Given the description of an element on the screen output the (x, y) to click on. 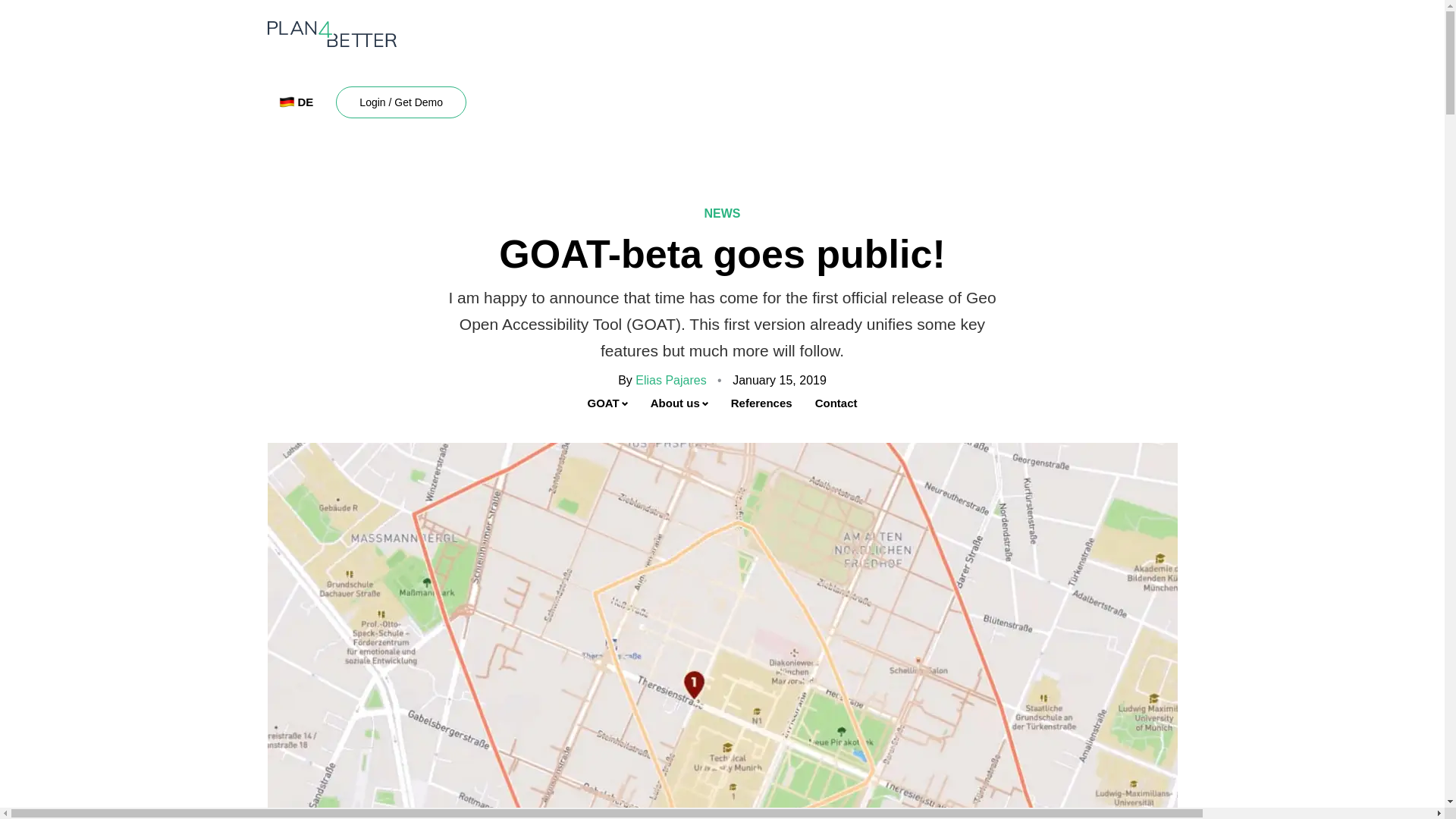
Elias Pajares (670, 379)
References (761, 404)
About us (679, 404)
Contact (836, 404)
GOAT (607, 404)
